Given the description of an element on the screen output the (x, y) to click on. 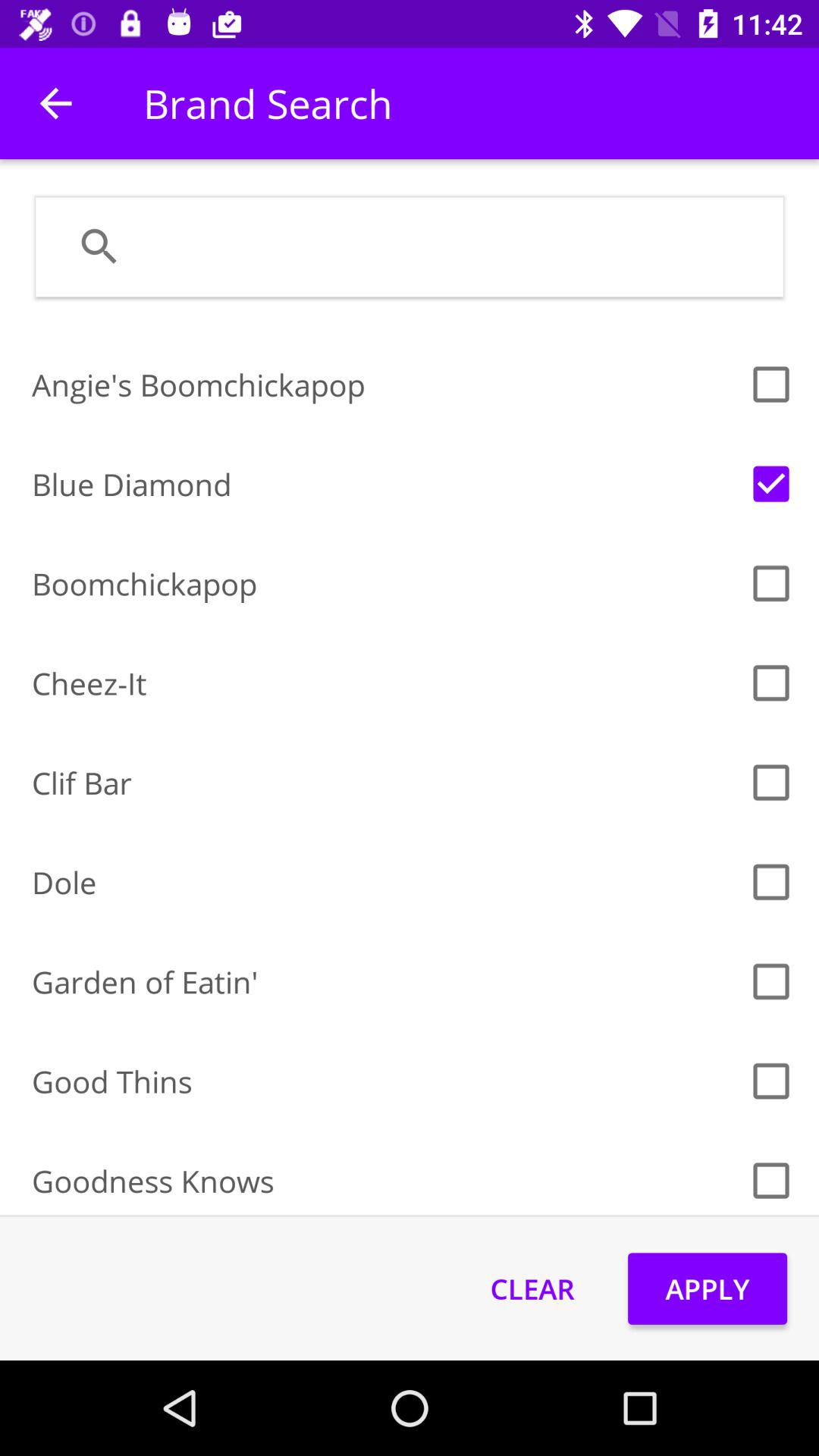
search function bar (449, 246)
